Given the description of an element on the screen output the (x, y) to click on. 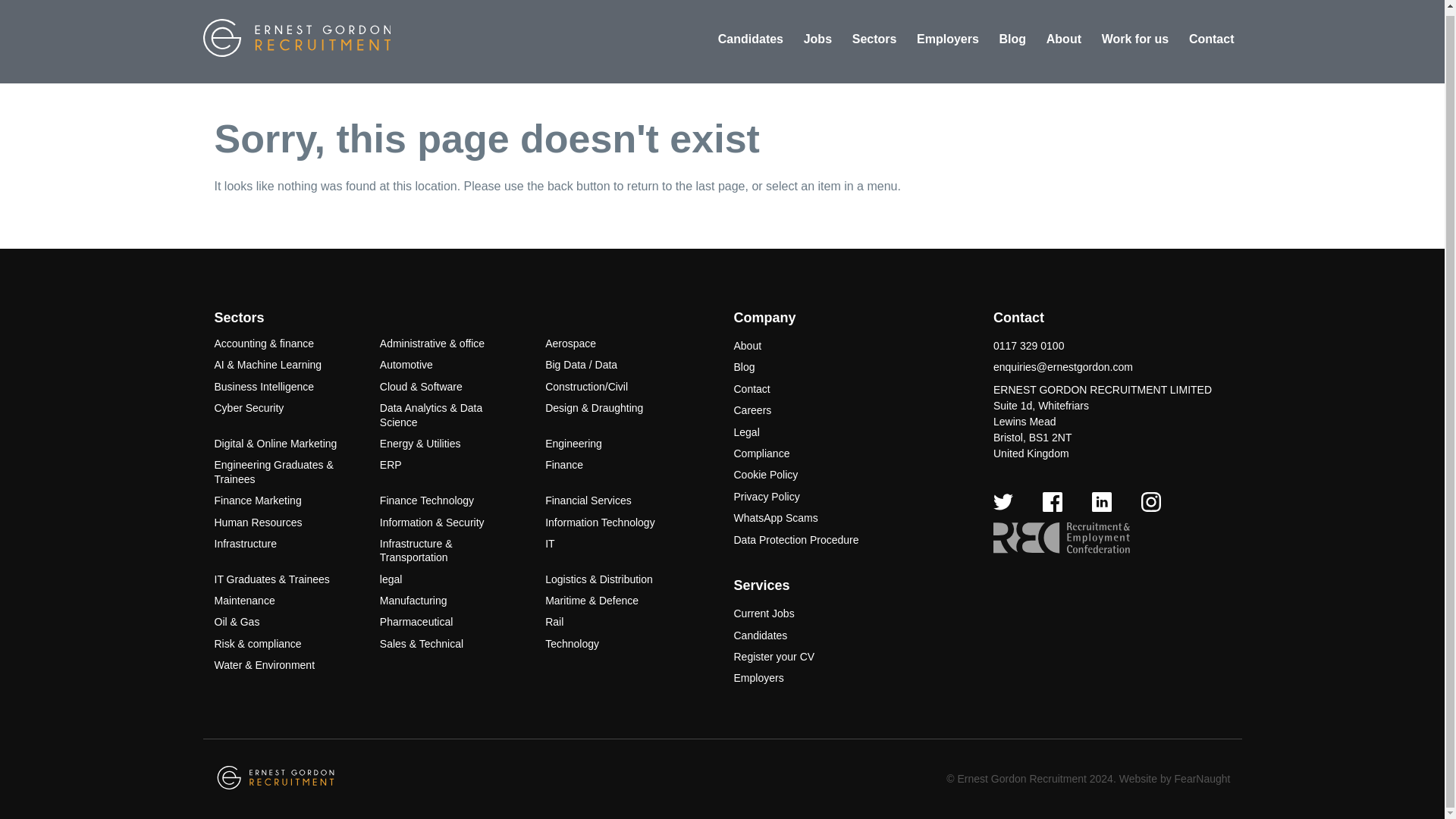
Automotive (406, 364)
Financial Services (587, 500)
Finance (563, 464)
Aerospace (569, 343)
ERP (390, 464)
Employers (947, 40)
Finance Technology (427, 500)
Finance Marketing (257, 500)
Human Resources (257, 521)
Cyber Security (248, 408)
legal (391, 579)
Work for us (1135, 40)
Infrastructure (245, 543)
Candidates (750, 40)
Business Intelligence (264, 386)
